Given the description of an element on the screen output the (x, y) to click on. 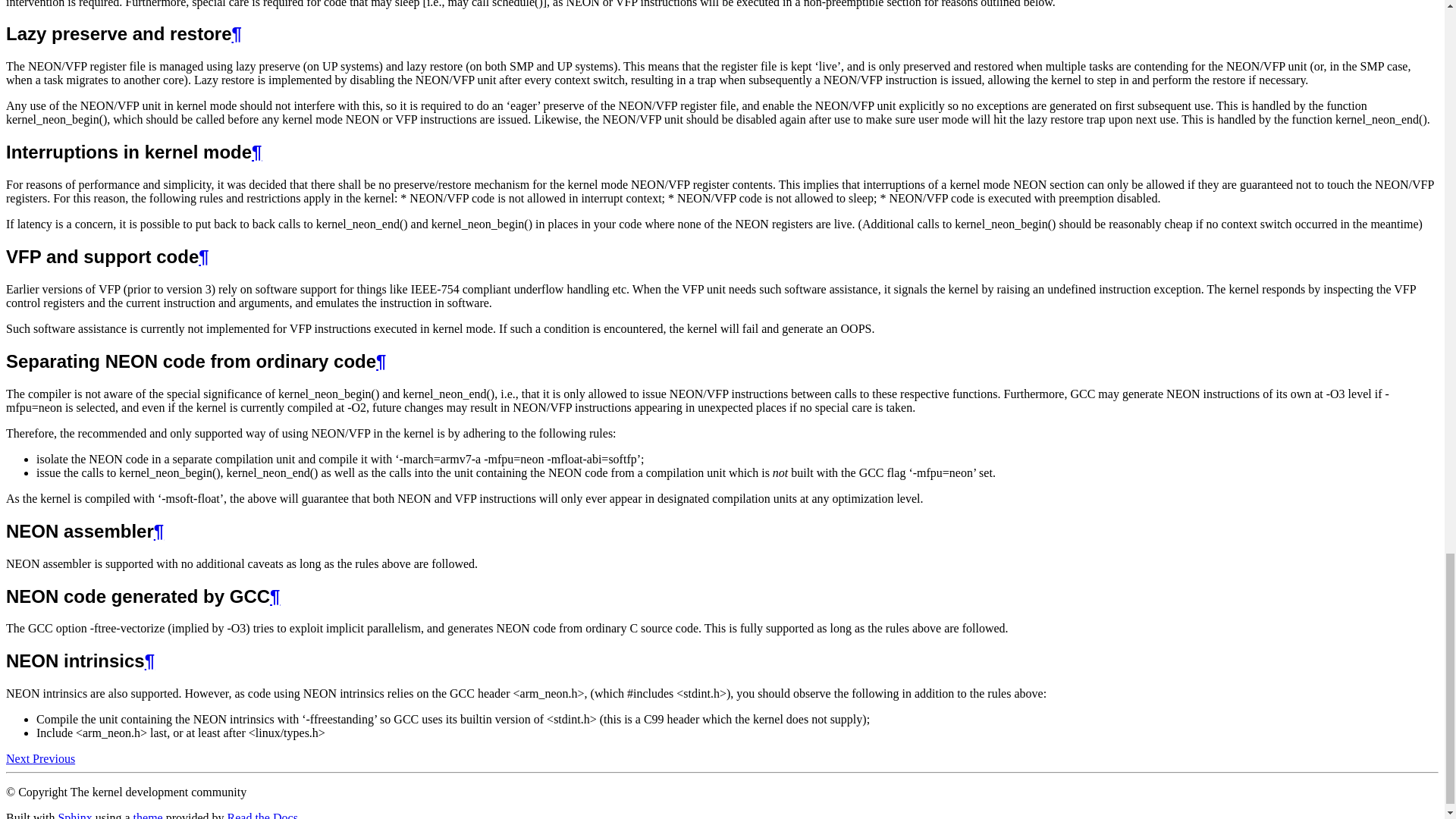
Kernel-provided User Helpers (18, 758)
Interrupts (53, 758)
